Given the description of an element on the screen output the (x, y) to click on. 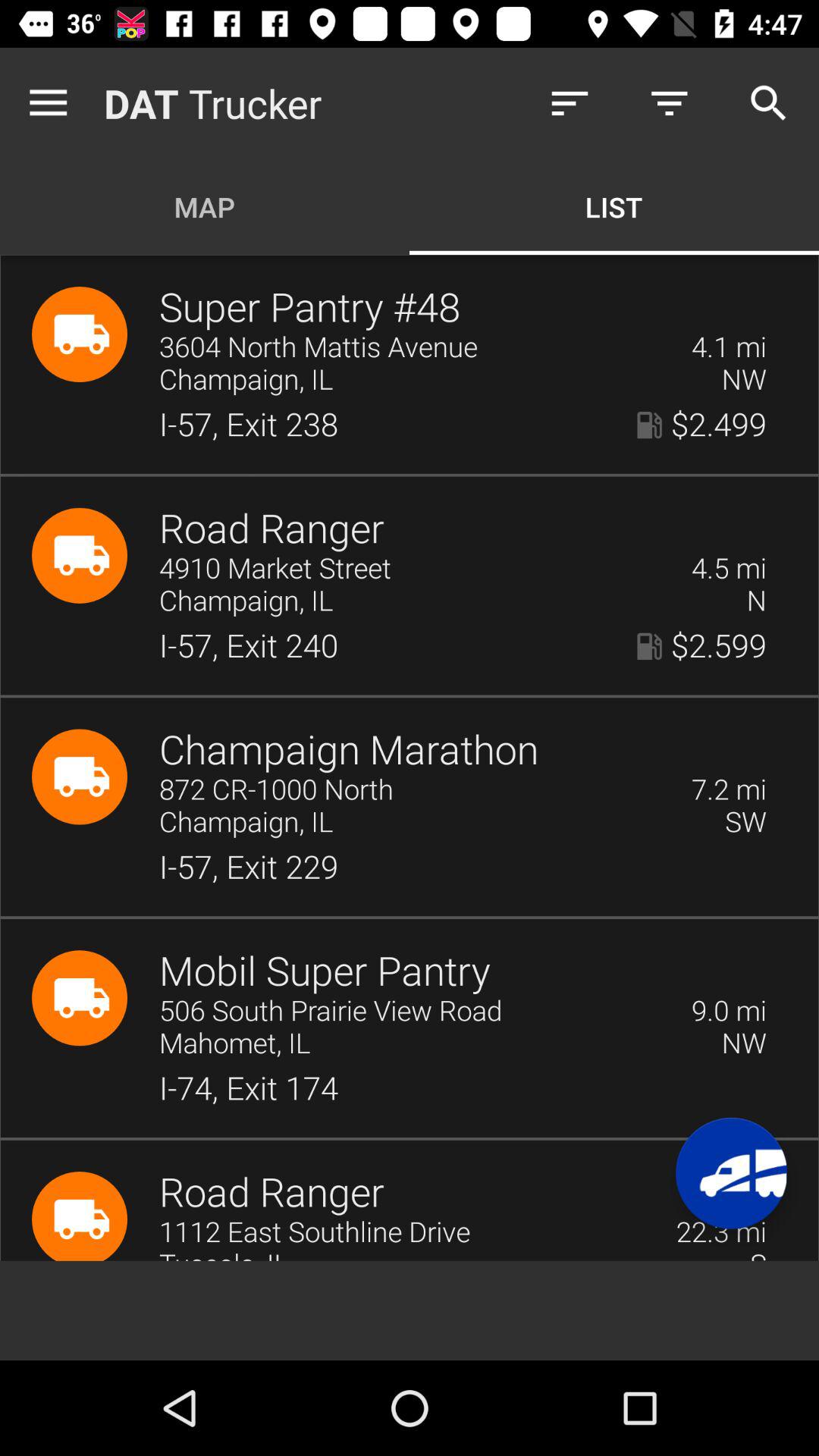
scroll until 506 south prairie icon (415, 1011)
